Given the description of an element on the screen output the (x, y) to click on. 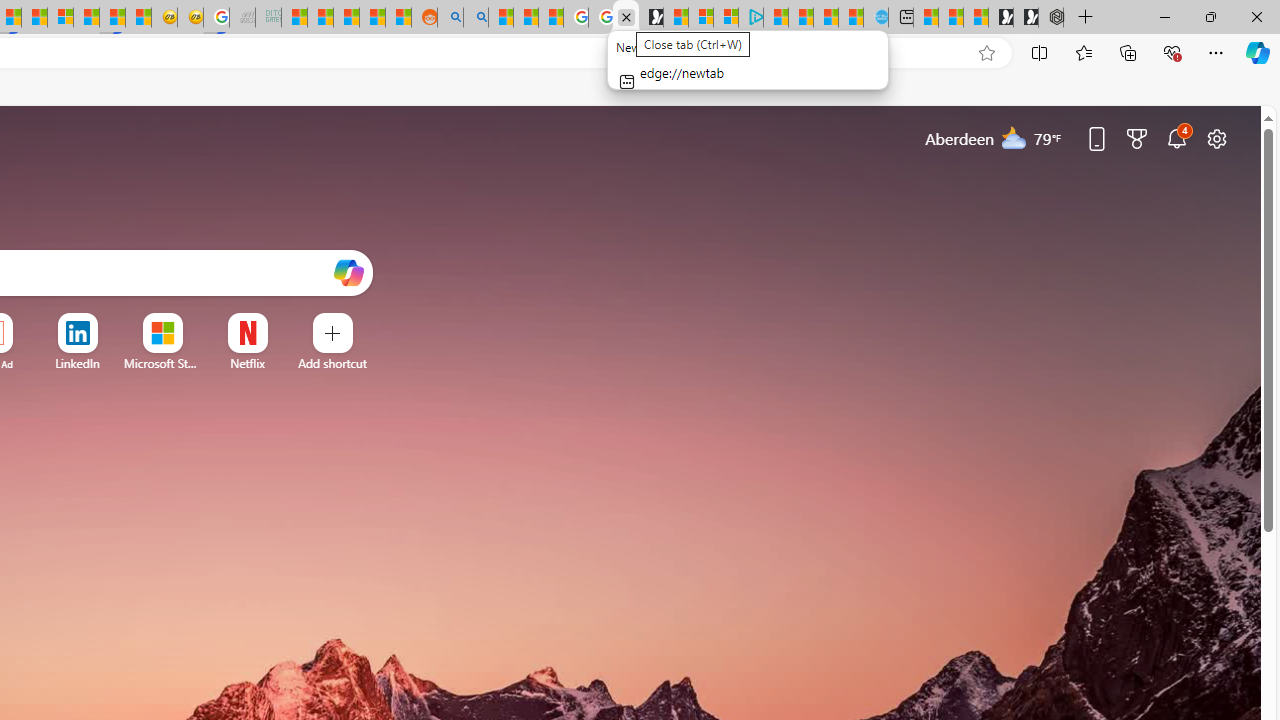
Notifications (1176, 138)
Play Free Online Games | Games from Microsoft Start (1025, 17)
